Given the description of an element on the screen output the (x, y) to click on. 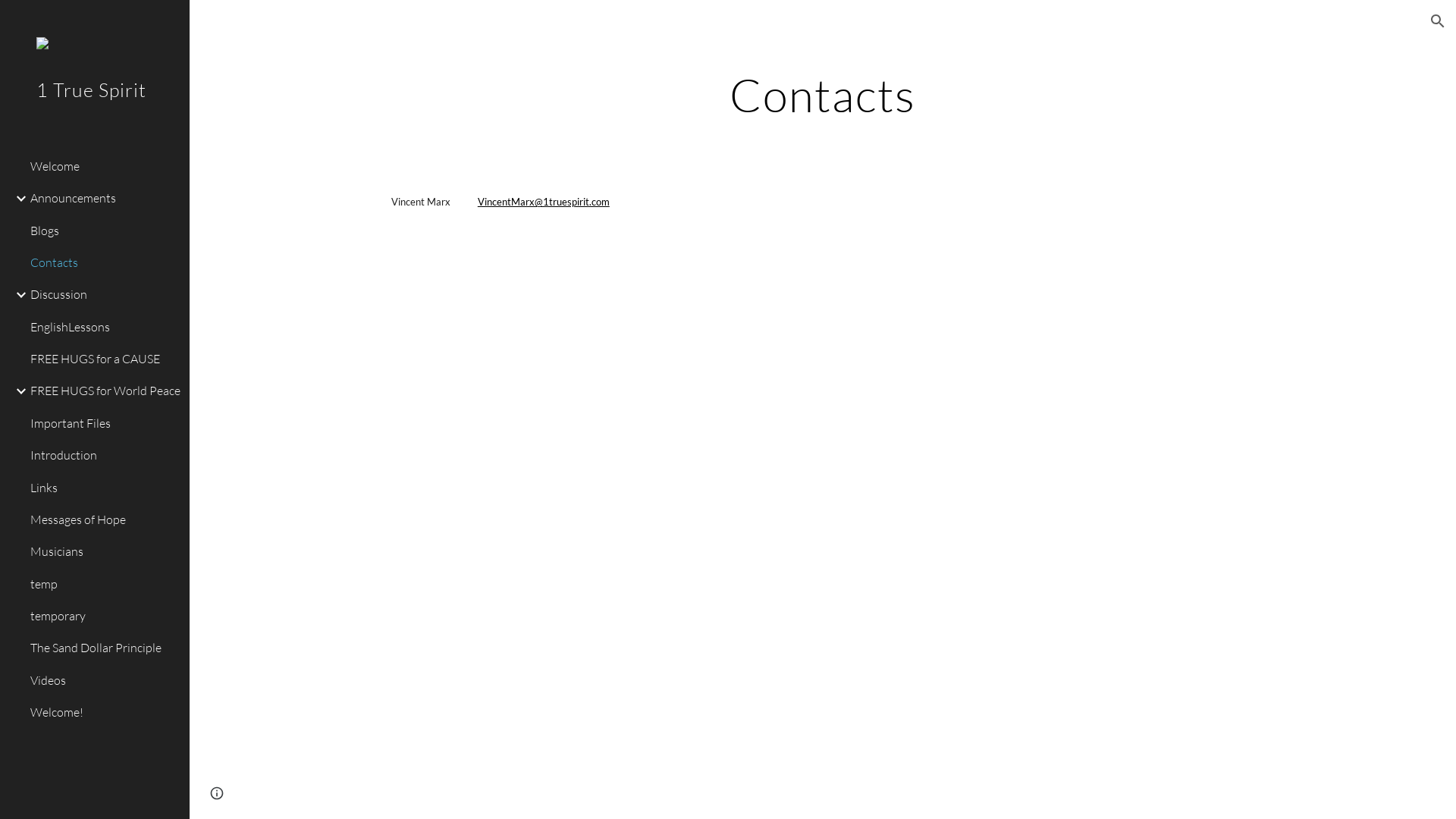
Expand/Collapse Element type: hover (16, 198)
Expand/Collapse Element type: hover (16, 391)
Musicians Element type: text (103, 551)
Welcome! Element type: text (103, 712)
Introduction Element type: text (103, 455)
temporary Element type: text (103, 615)
temp Element type: text (103, 583)
Important Files Element type: text (103, 423)
Welcome Element type: text (103, 166)
Announcements Element type: text (103, 198)
Blogs Element type: text (103, 230)
The Sand Dollar Principle Element type: text (103, 648)
FREE HUGS for World Peace Element type: text (103, 391)
Expand/Collapse Element type: hover (16, 294)
FREE HUGS for a CAUSE Element type: text (103, 359)
Videos Element type: text (103, 680)
1 True Spirit Element type: text (94, 109)
EnglishLessons Element type: text (103, 326)
Contacts Element type: text (103, 263)
Links Element type: text (103, 487)
Messages of Hope Element type: text (103, 519)
VincentMarx@1truespirit.com Element type: text (543, 200)
Discussion Element type: text (103, 294)
